Given the description of an element on the screen output the (x, y) to click on. 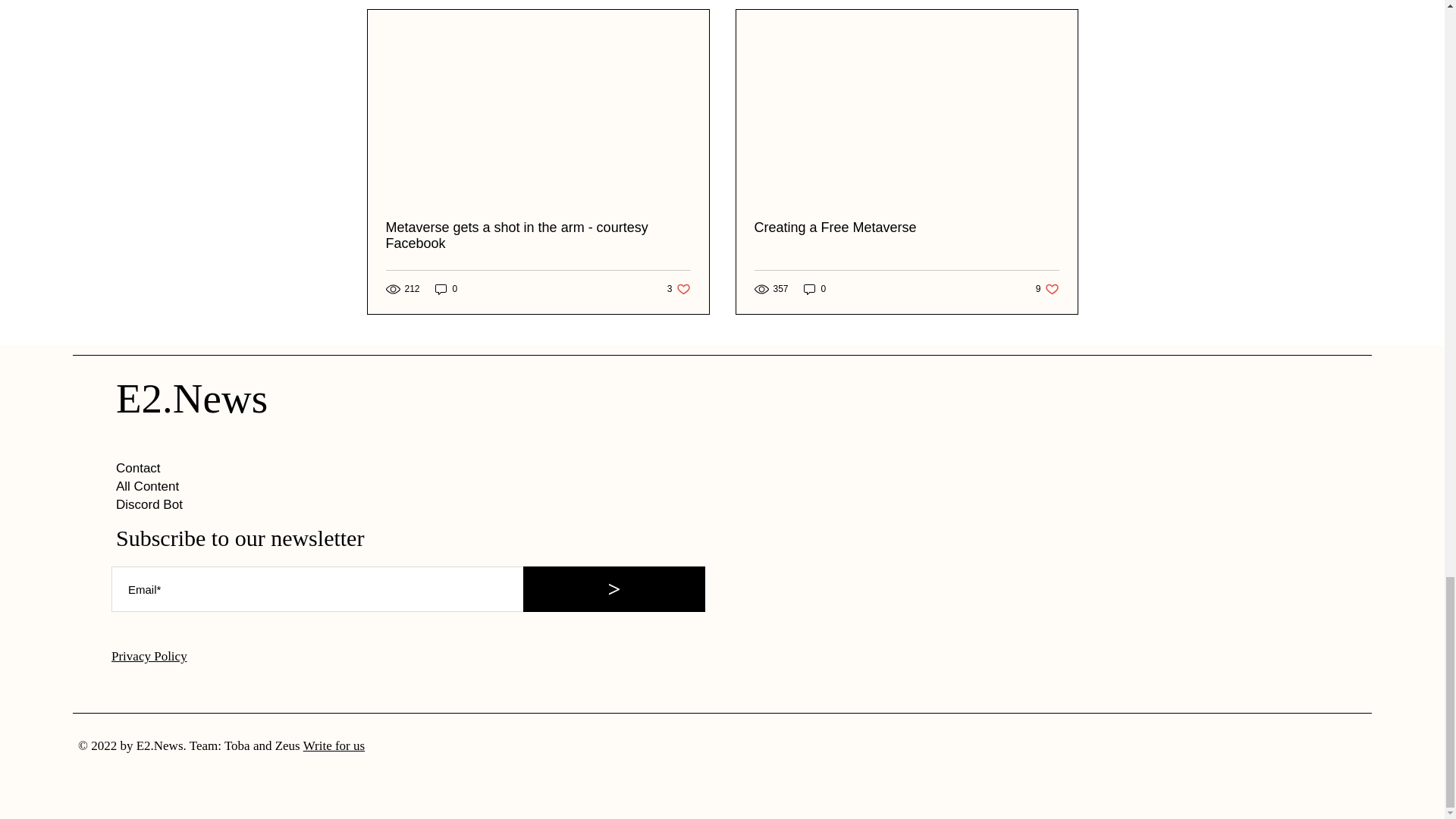
Metaverse gets a shot in the arm - courtesy Facebook (678, 288)
0 (537, 235)
Creating a Free Metaverse (446, 288)
